Given the description of an element on the screen output the (x, y) to click on. 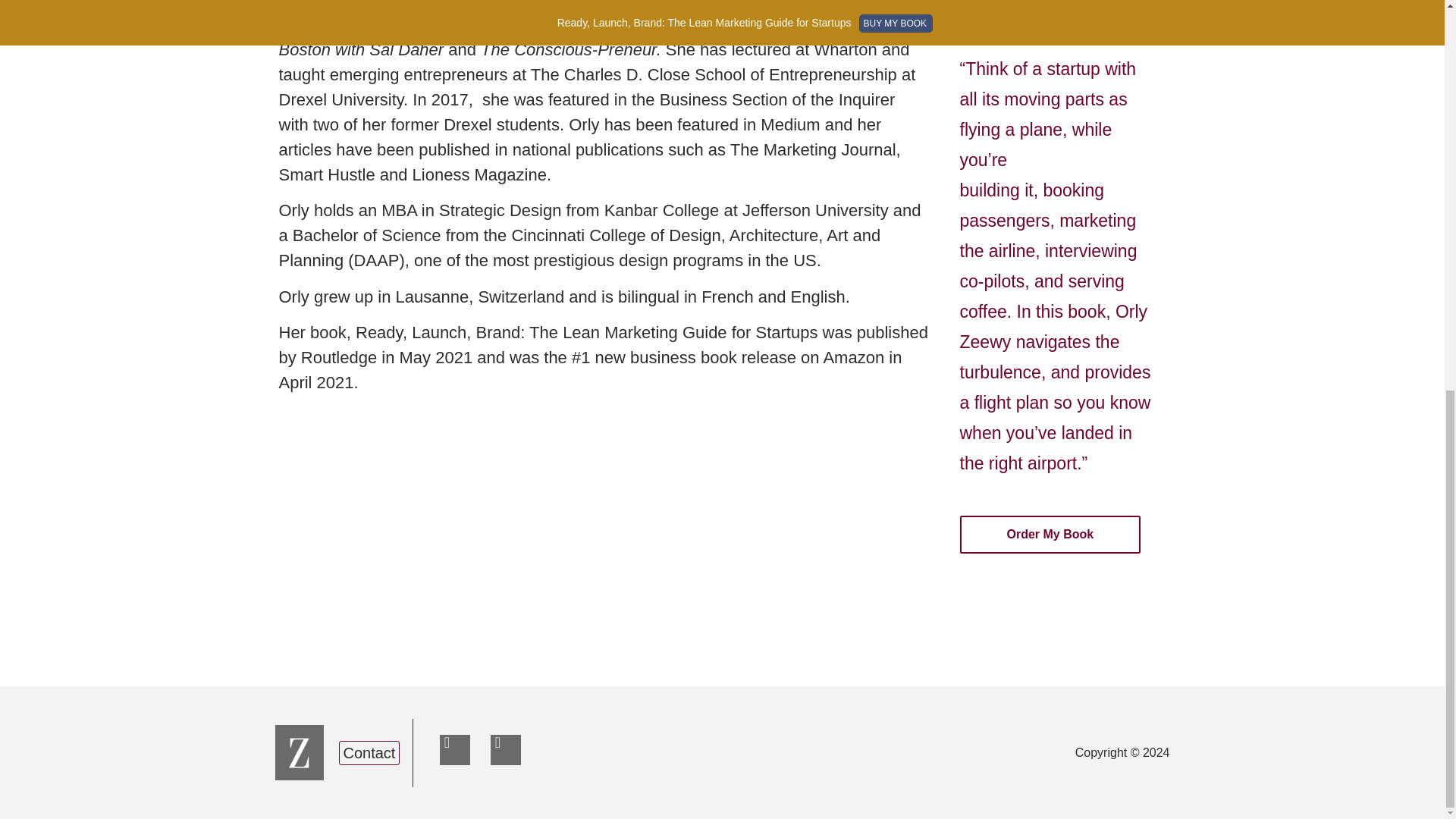
Order My Book (1050, 534)
Contact (367, 752)
